Given the description of an element on the screen output the (x, y) to click on. 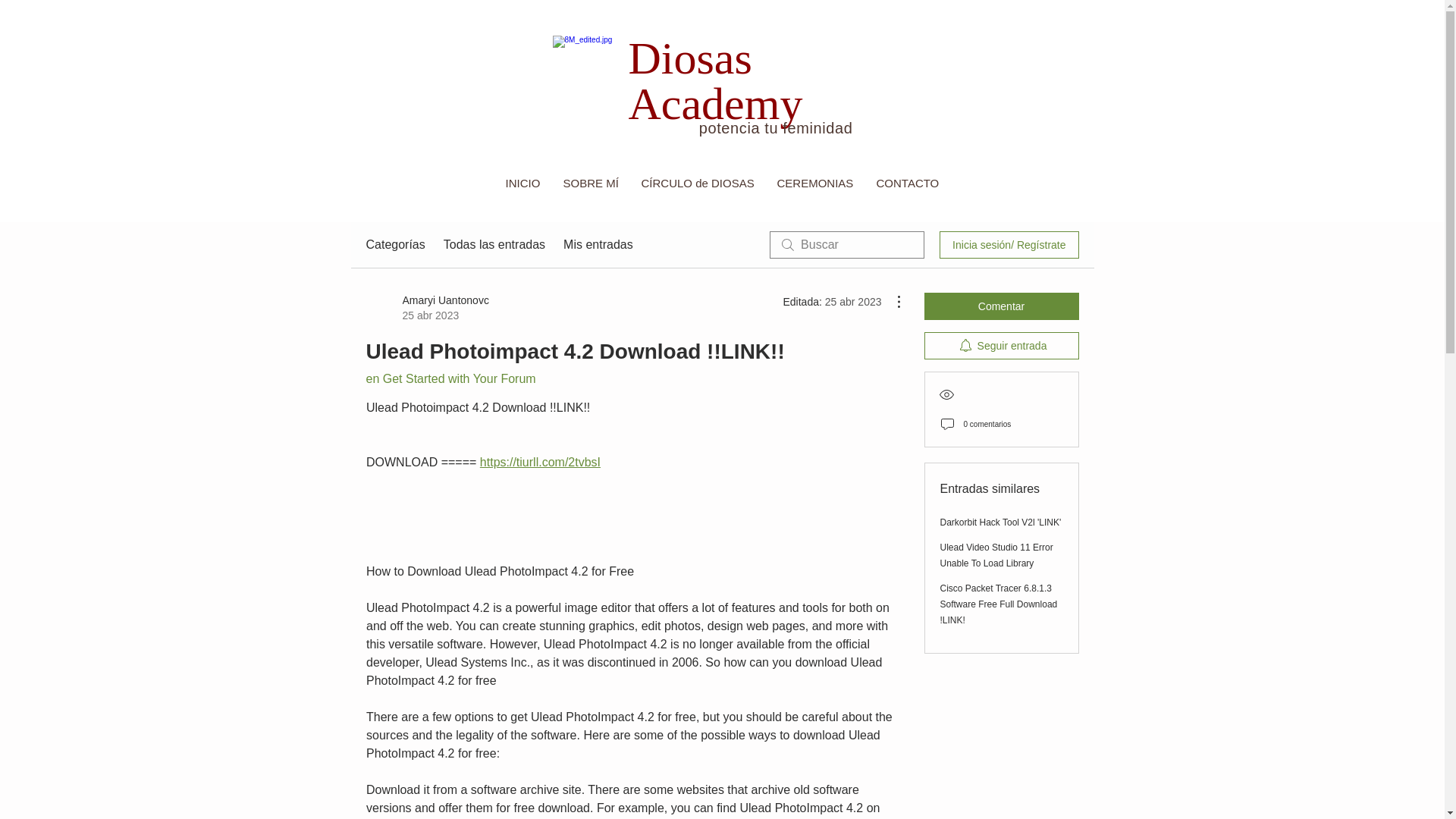
CONTACTO (907, 182)
Mis entradas (598, 244)
Todas las entradas (494, 244)
Seguir entrada (1000, 345)
Comentar (1000, 306)
en Get Started with Your Forum (450, 378)
CEREMONIAS (814, 182)
Darkorbit Hack Tool V2l 'LINK' (1000, 521)
Ulead Video Studio 11 Error Unable To Load Library (996, 555)
INICIO (523, 182)
